Given the description of an element on the screen output the (x, y) to click on. 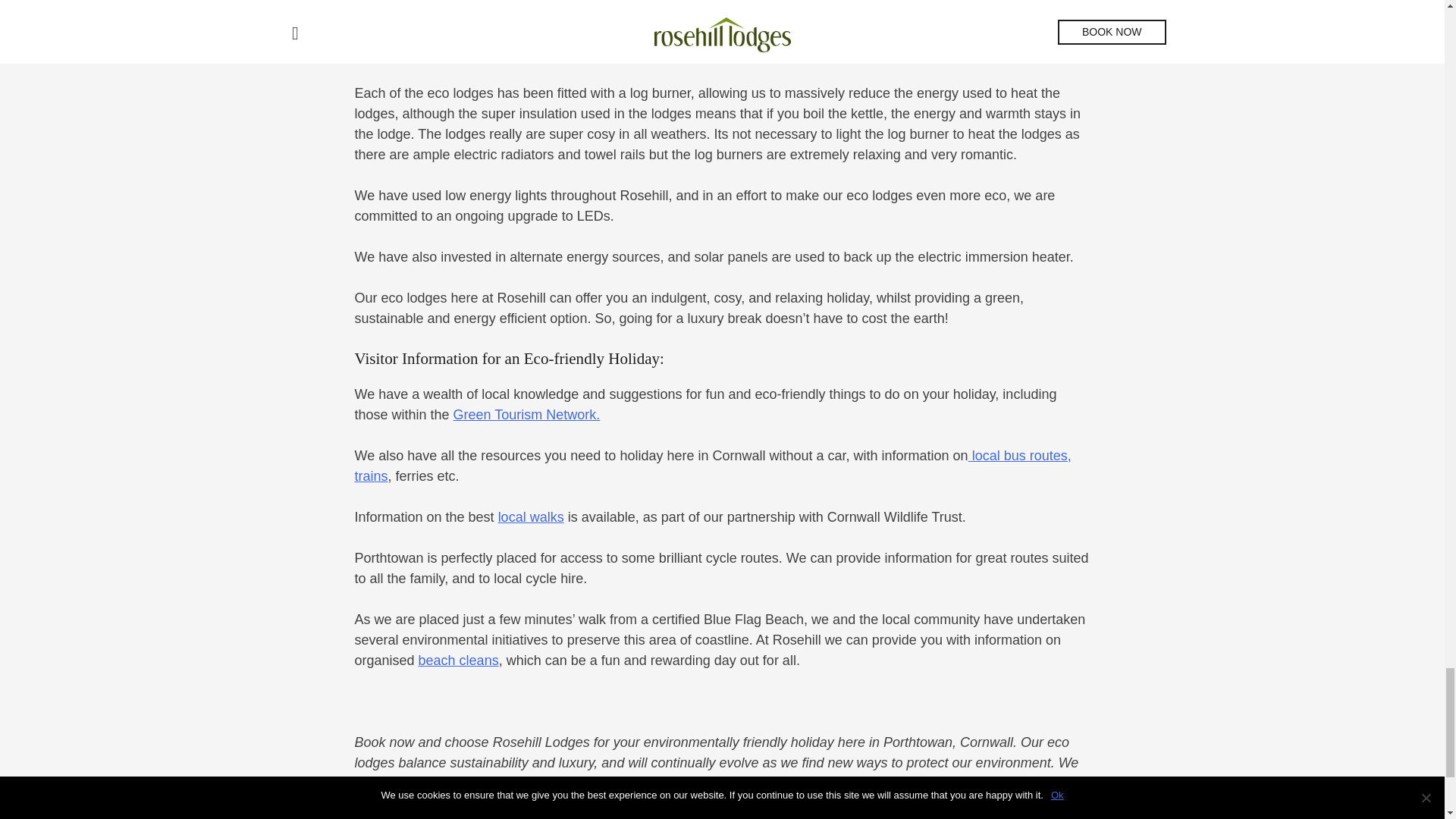
local walks (530, 516)
beach cleans (459, 660)
Green Tourism Network. (525, 414)
local bus routes, trains (713, 465)
